Given the description of an element on the screen output the (x, y) to click on. 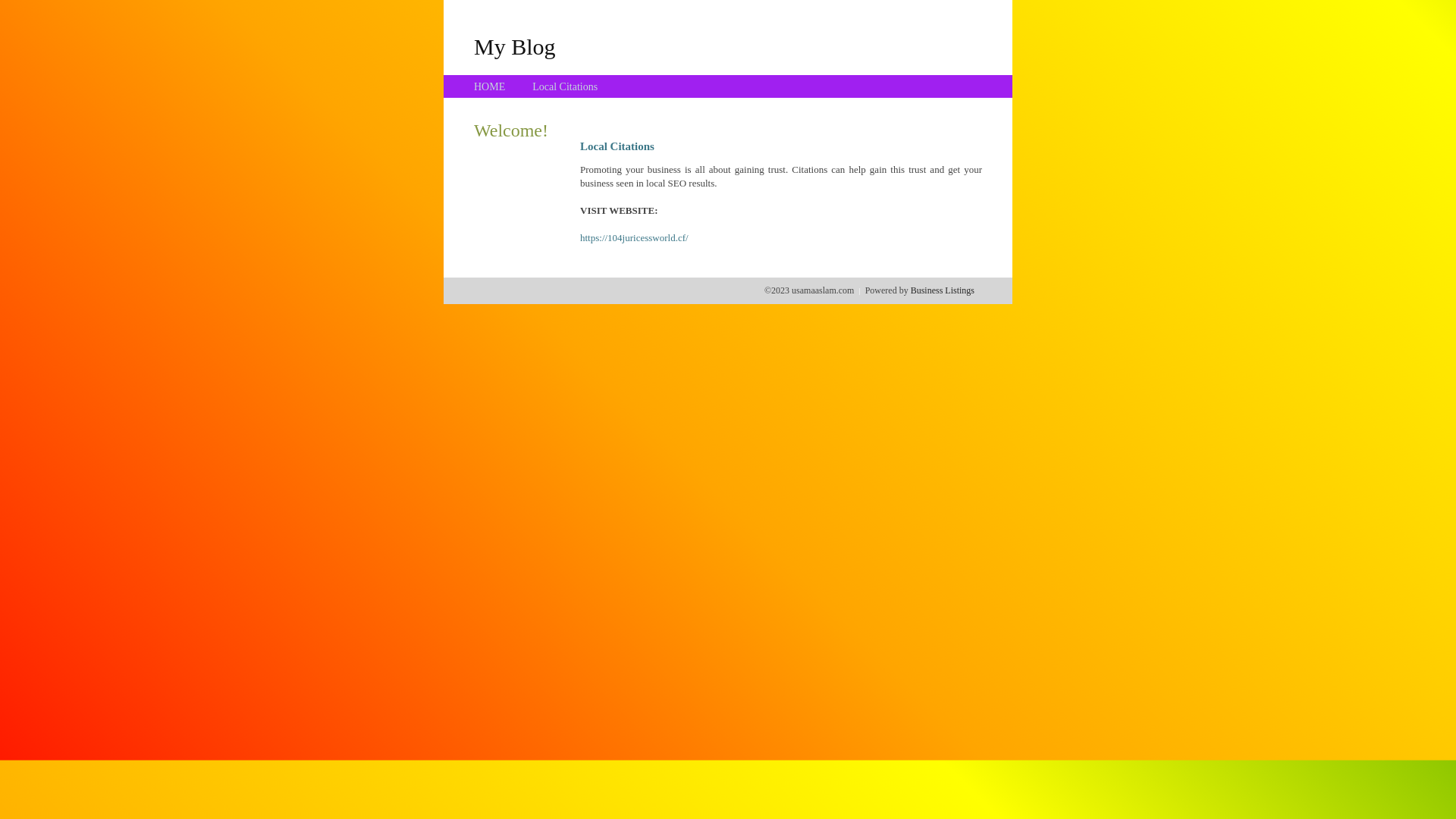
HOME Element type: text (489, 86)
Business Listings Element type: text (942, 290)
Local Citations Element type: text (564, 86)
https://104juricessworld.cf/ Element type: text (634, 237)
My Blog Element type: text (514, 46)
